Given the description of an element on the screen output the (x, y) to click on. 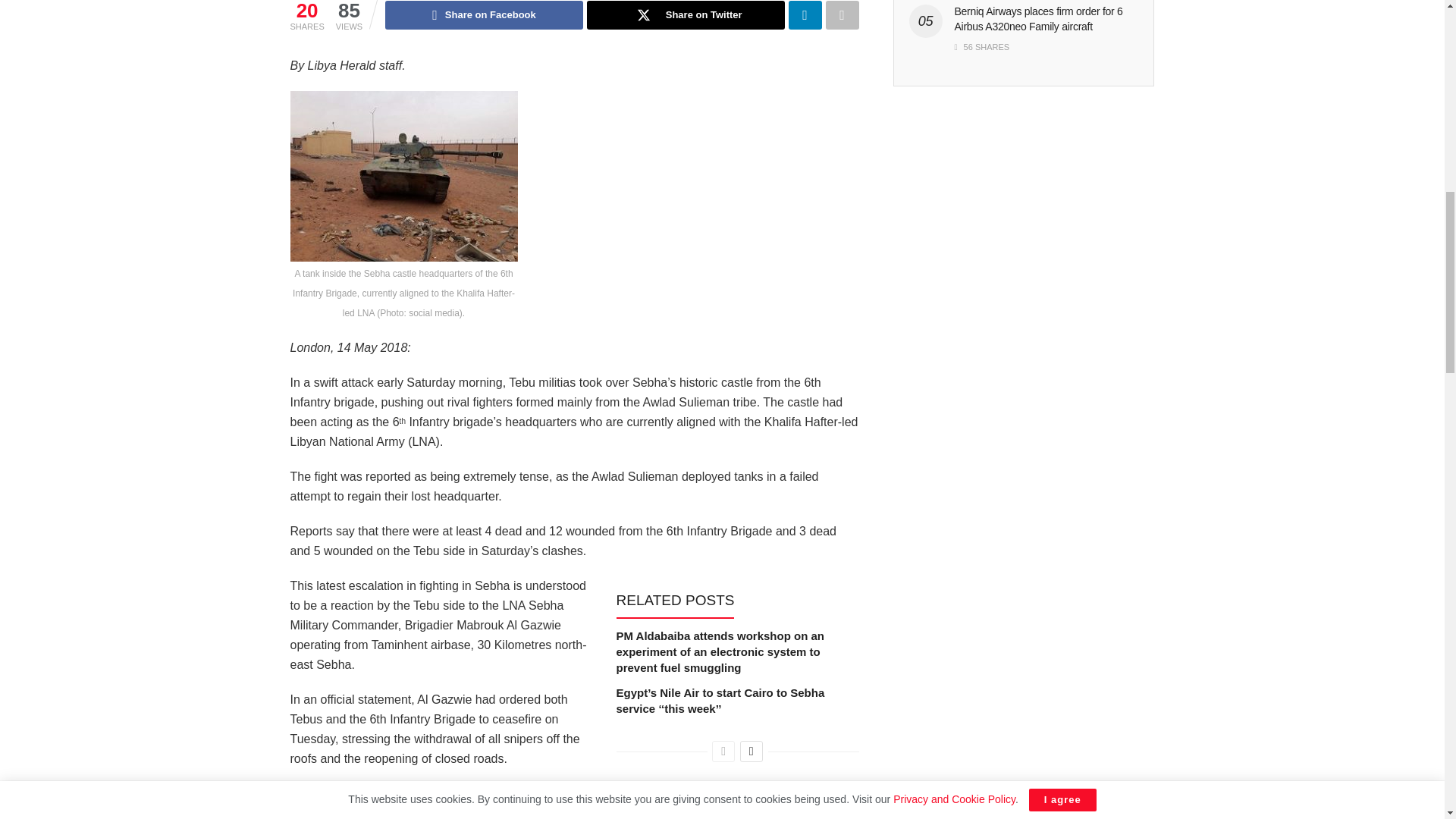
Next (750, 751)
Previous (723, 751)
